Given the description of an element on the screen output the (x, y) to click on. 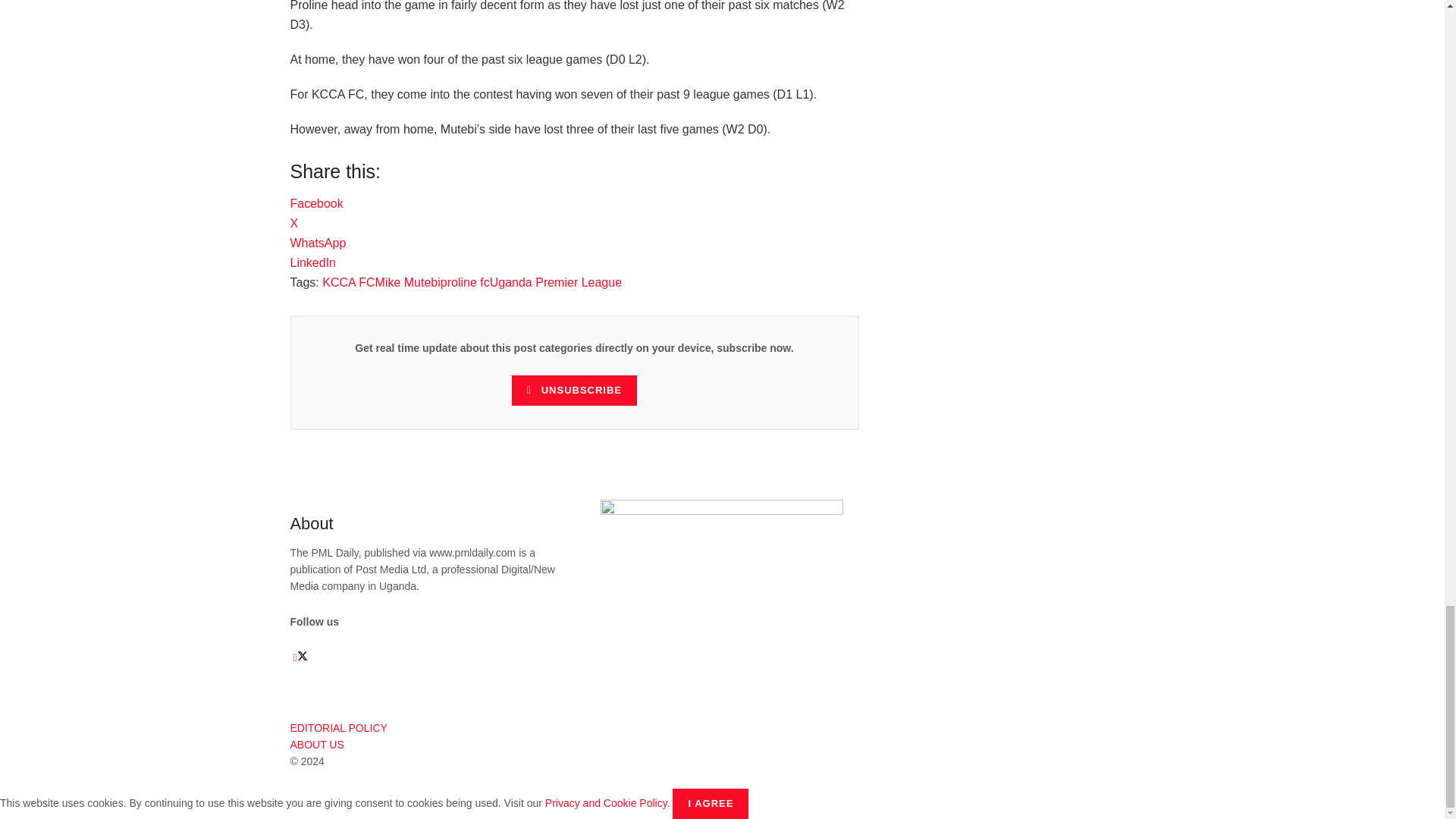
Click to share on WhatsApp (317, 242)
Click to share on LinkedIn (312, 262)
Click to share on Facebook (315, 203)
Click to share on X (293, 223)
